Given the description of an element on the screen output the (x, y) to click on. 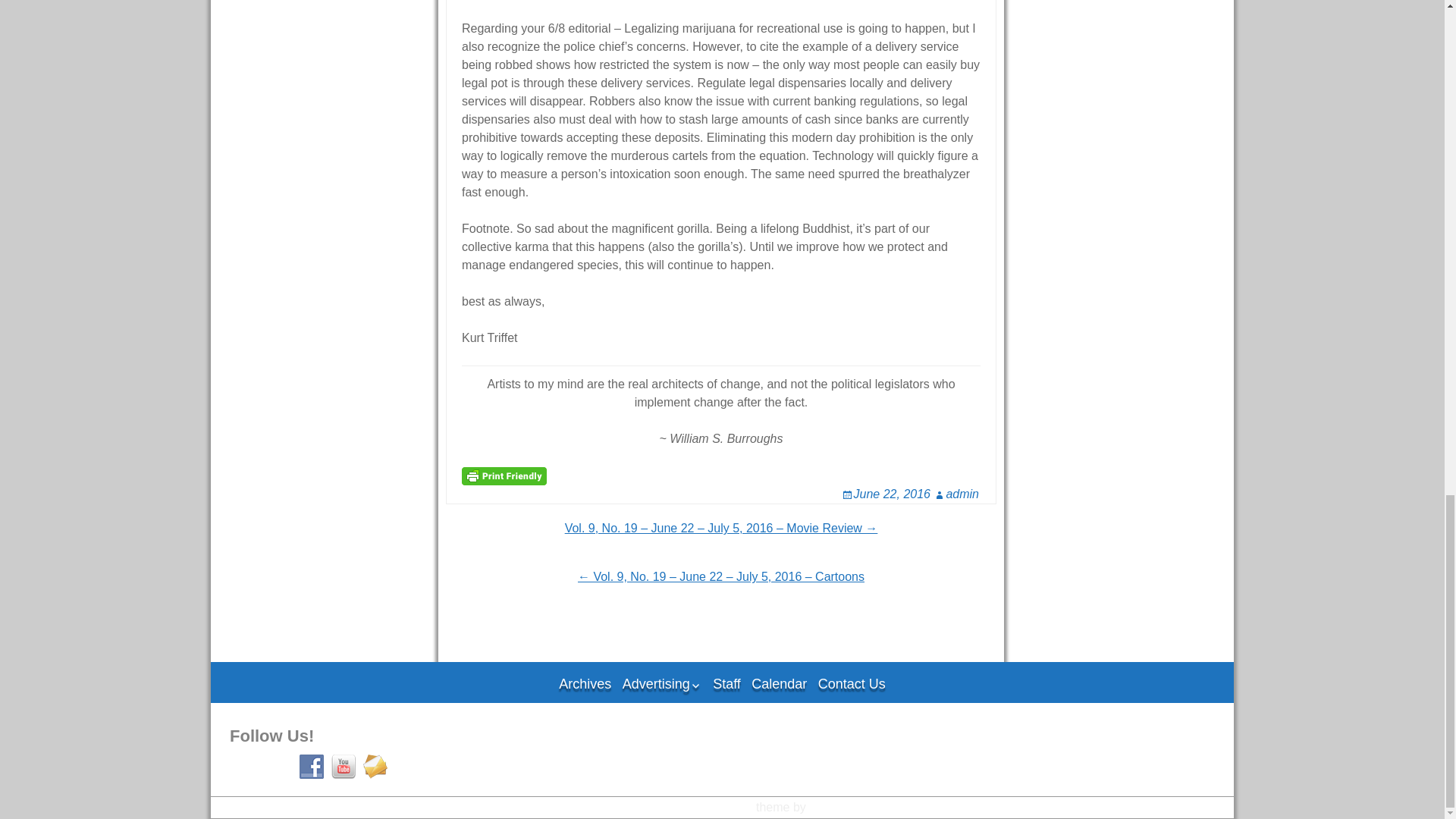
Follow Us on Facebook (311, 766)
Follow Us on E-mail (374, 766)
Follow Us on YouTube (343, 766)
